Given the description of an element on the screen output the (x, y) to click on. 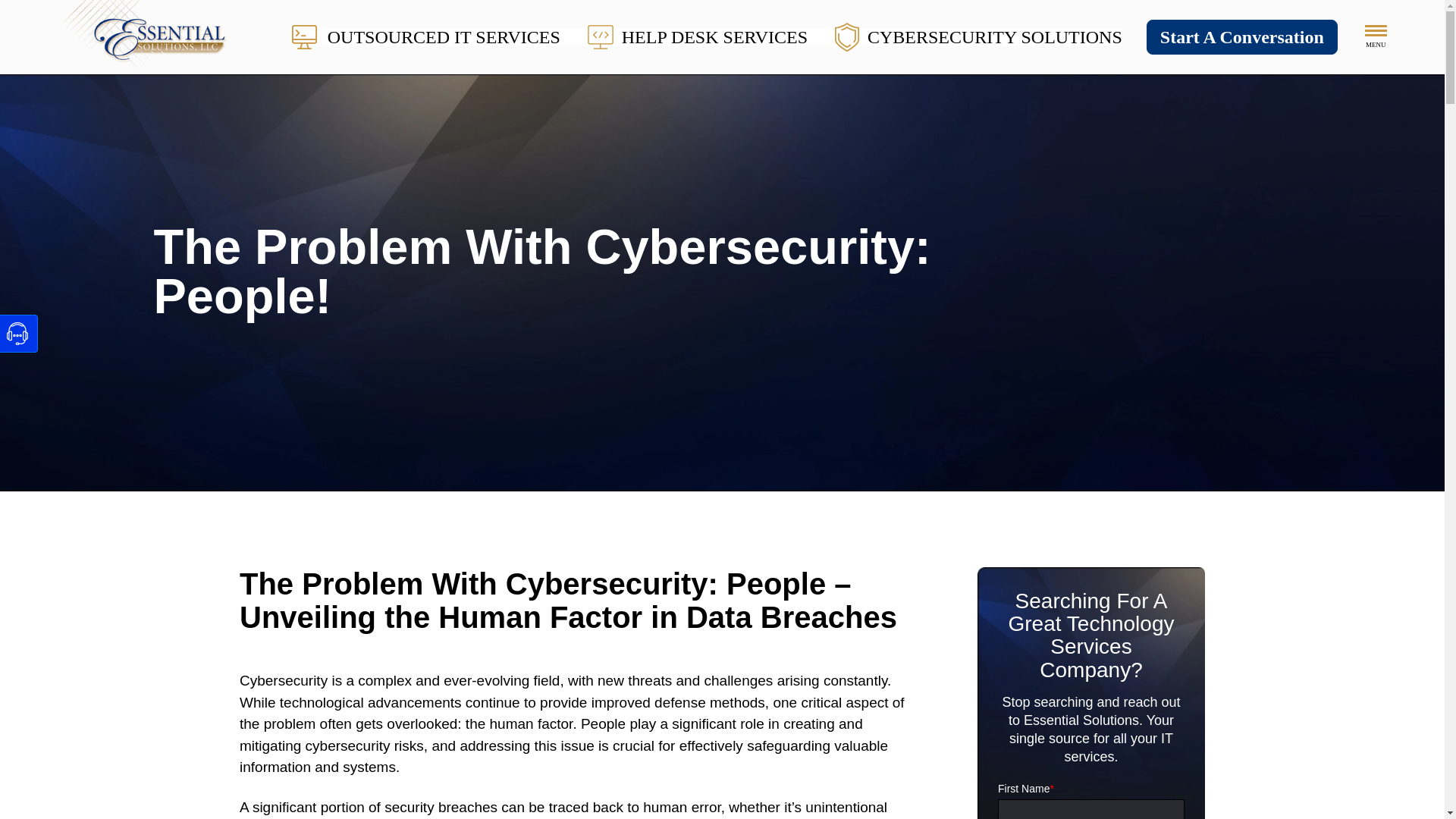
Start A Conversation (1242, 36)
EssentialLogo (155, 36)
CYBERSECURITY SOLUTIONS (978, 36)
MENU (1376, 36)
OUTSOURCED IT SERVICES (426, 36)
HELP DESK SERVICES (698, 36)
